Given the description of an element on the screen output the (x, y) to click on. 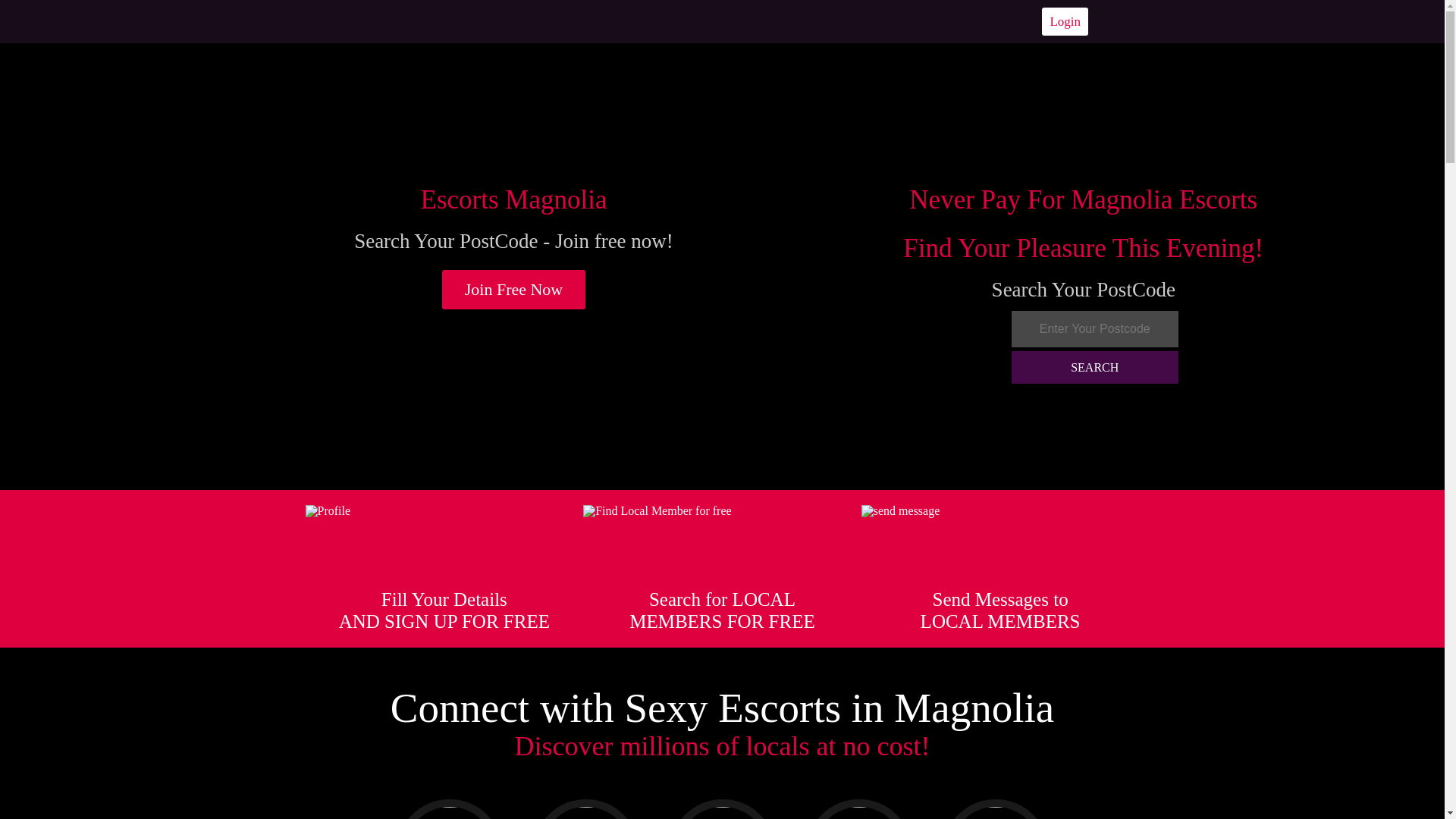
SEARCH (1094, 367)
Login (1064, 21)
Join (514, 289)
Join Free Now (514, 289)
Login (1064, 21)
